Given the description of an element on the screen output the (x, y) to click on. 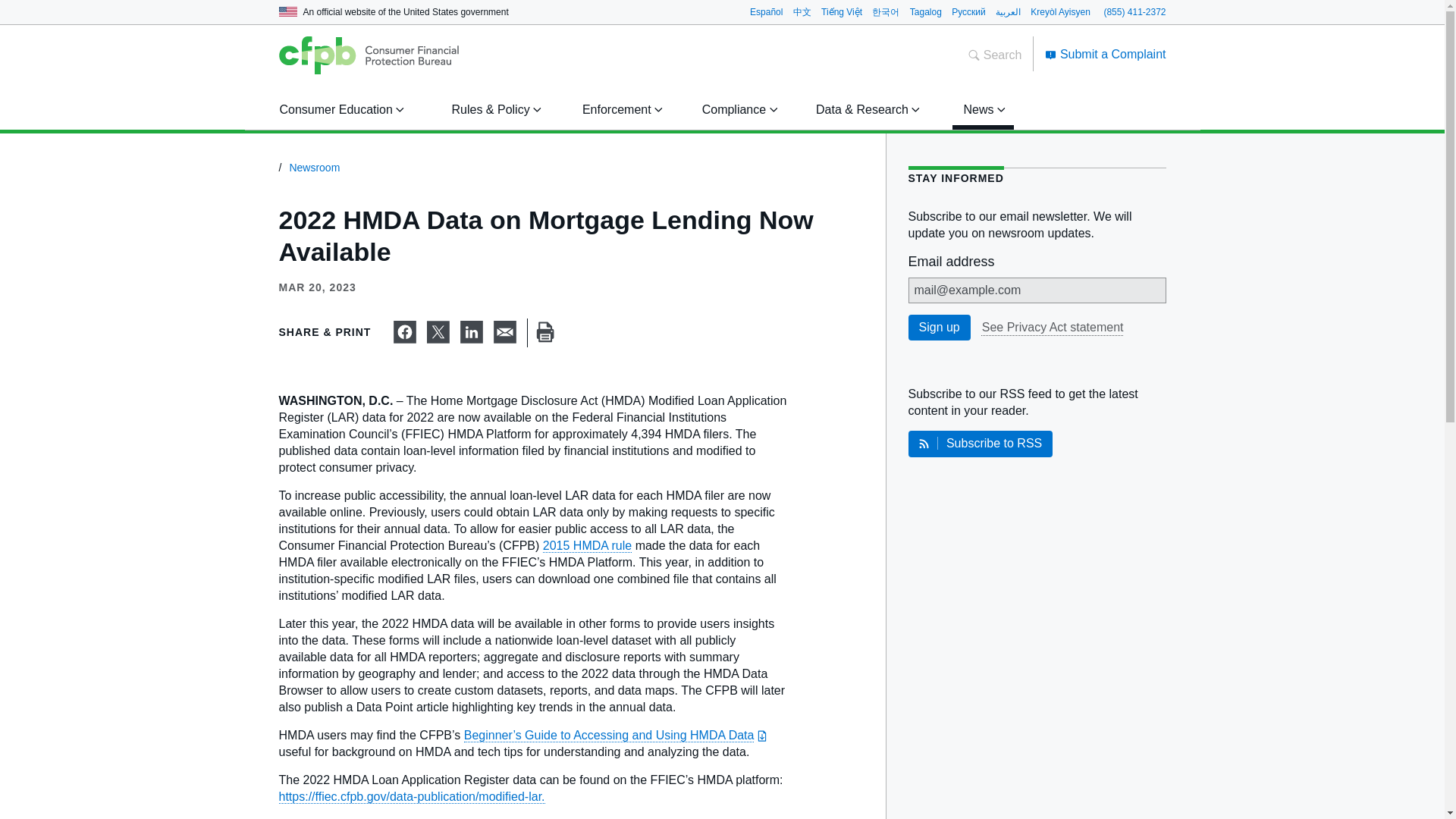
Submit a Complaint (1105, 52)
Search (995, 54)
Tagalog (926, 10)
Consumer Education (339, 109)
